Given the description of an element on the screen output the (x, y) to click on. 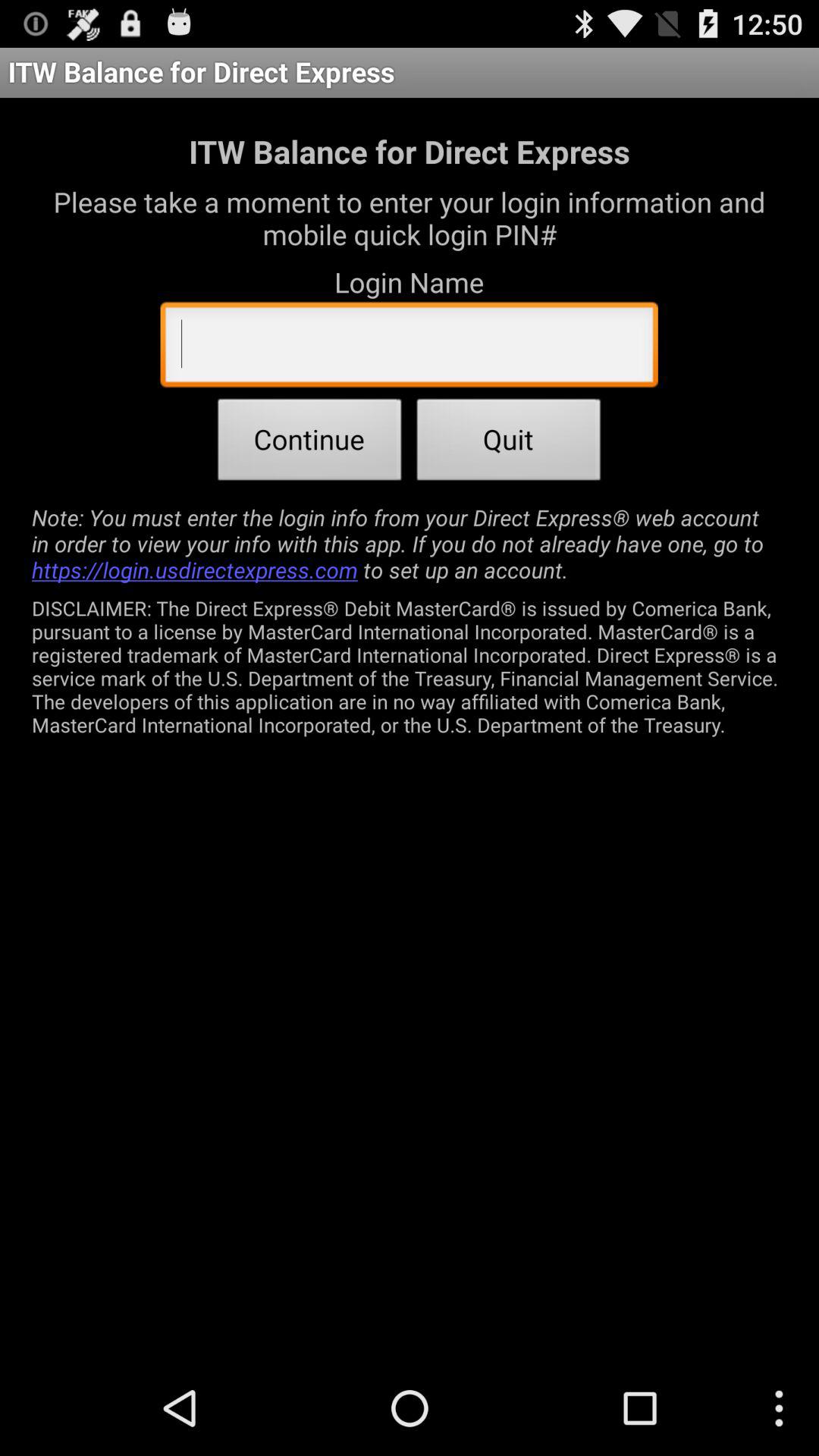
select the continue (309, 443)
